Given the description of an element on the screen output the (x, y) to click on. 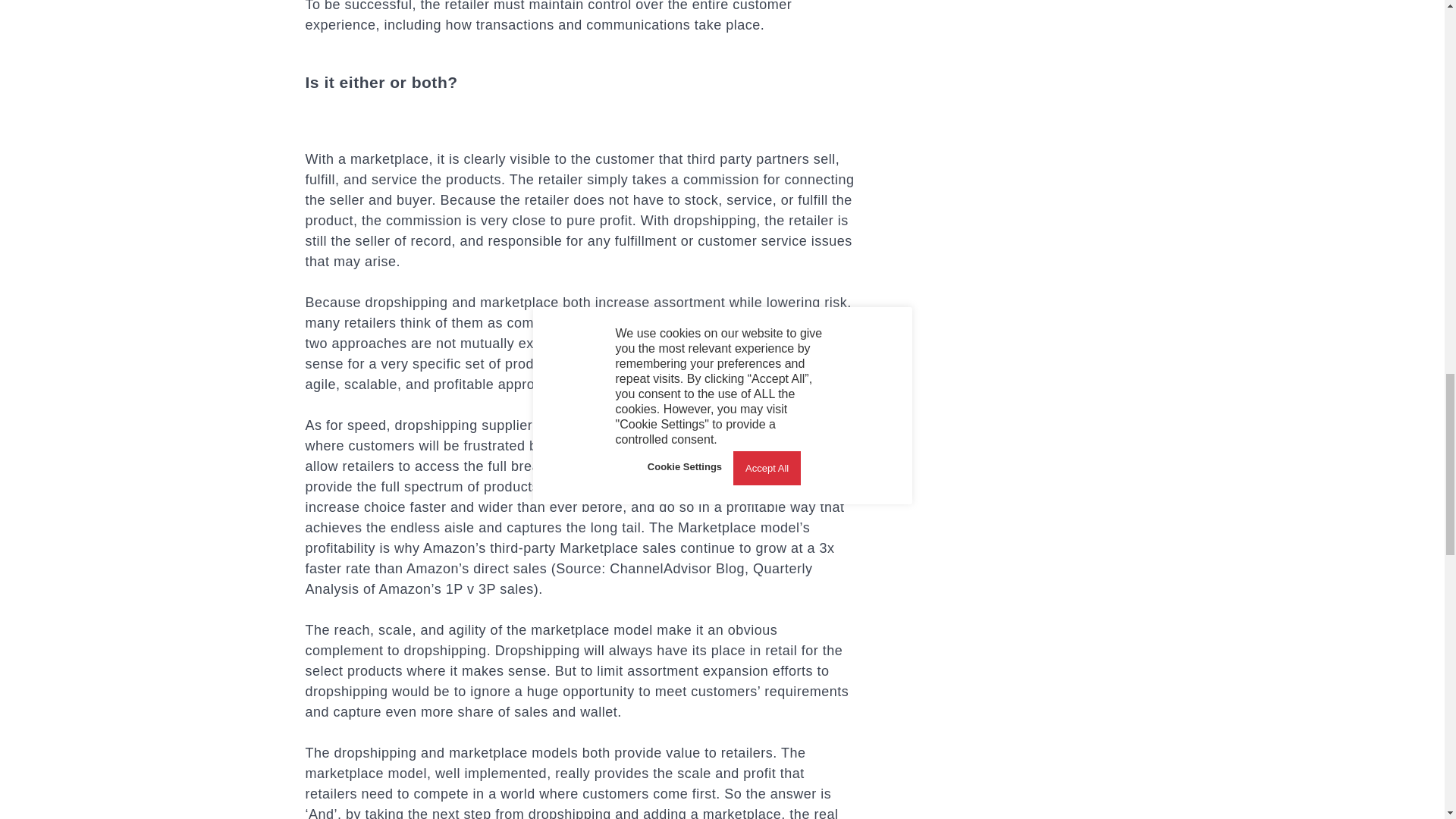
3rd party ad content (1035, 79)
